Given the description of an element on the screen output the (x, y) to click on. 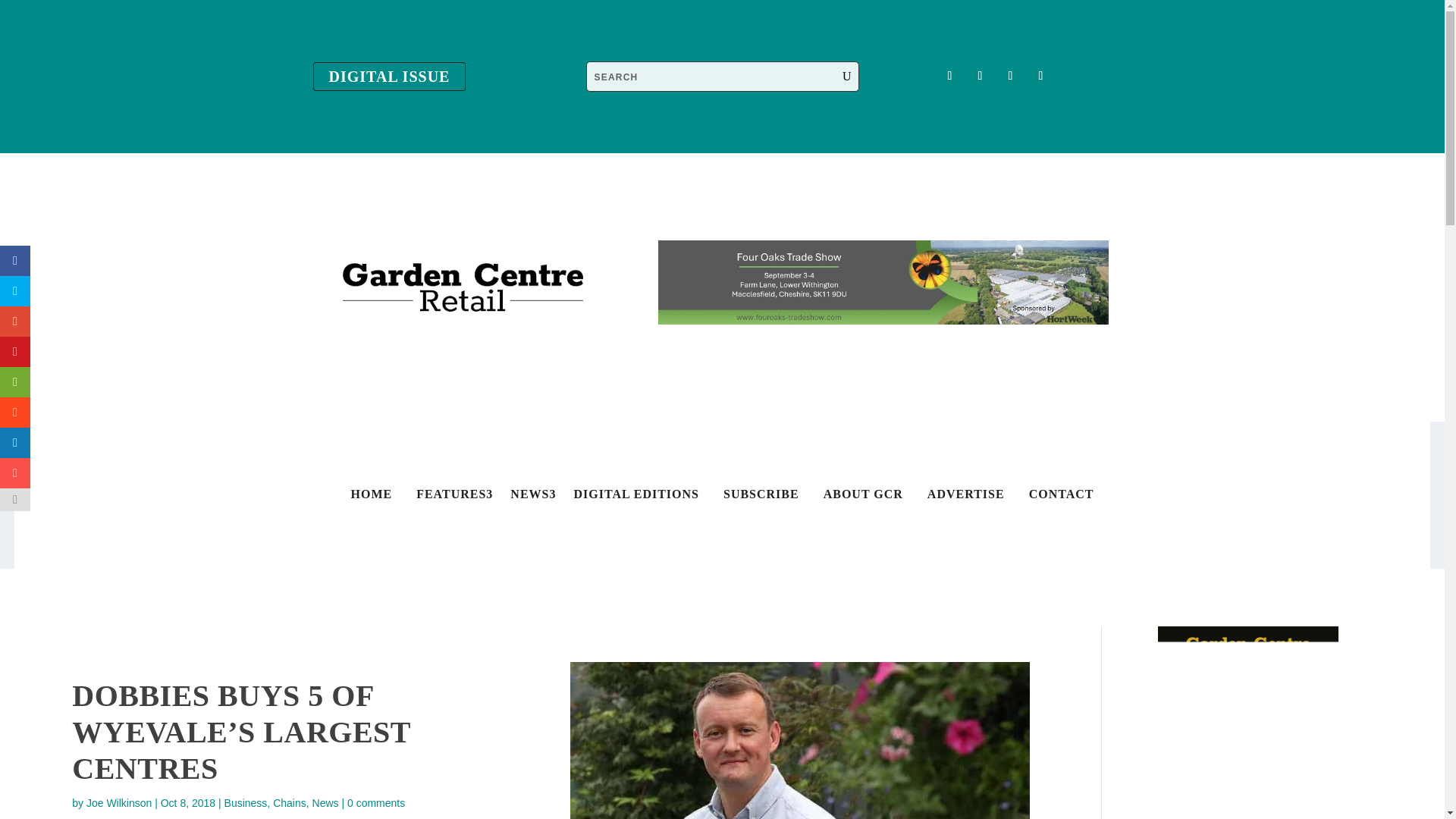
DIGITAL EDITIONS (636, 497)
Follow on Instagram (1009, 75)
SUBSCRIBE (761, 497)
ADVERTISE (966, 497)
HOME (371, 497)
Chains (289, 802)
Posts by Joe Wilkinson (118, 802)
FEATURES (450, 497)
NEWS (529, 497)
CONTACT (1061, 497)
